Given the description of an element on the screen output the (x, y) to click on. 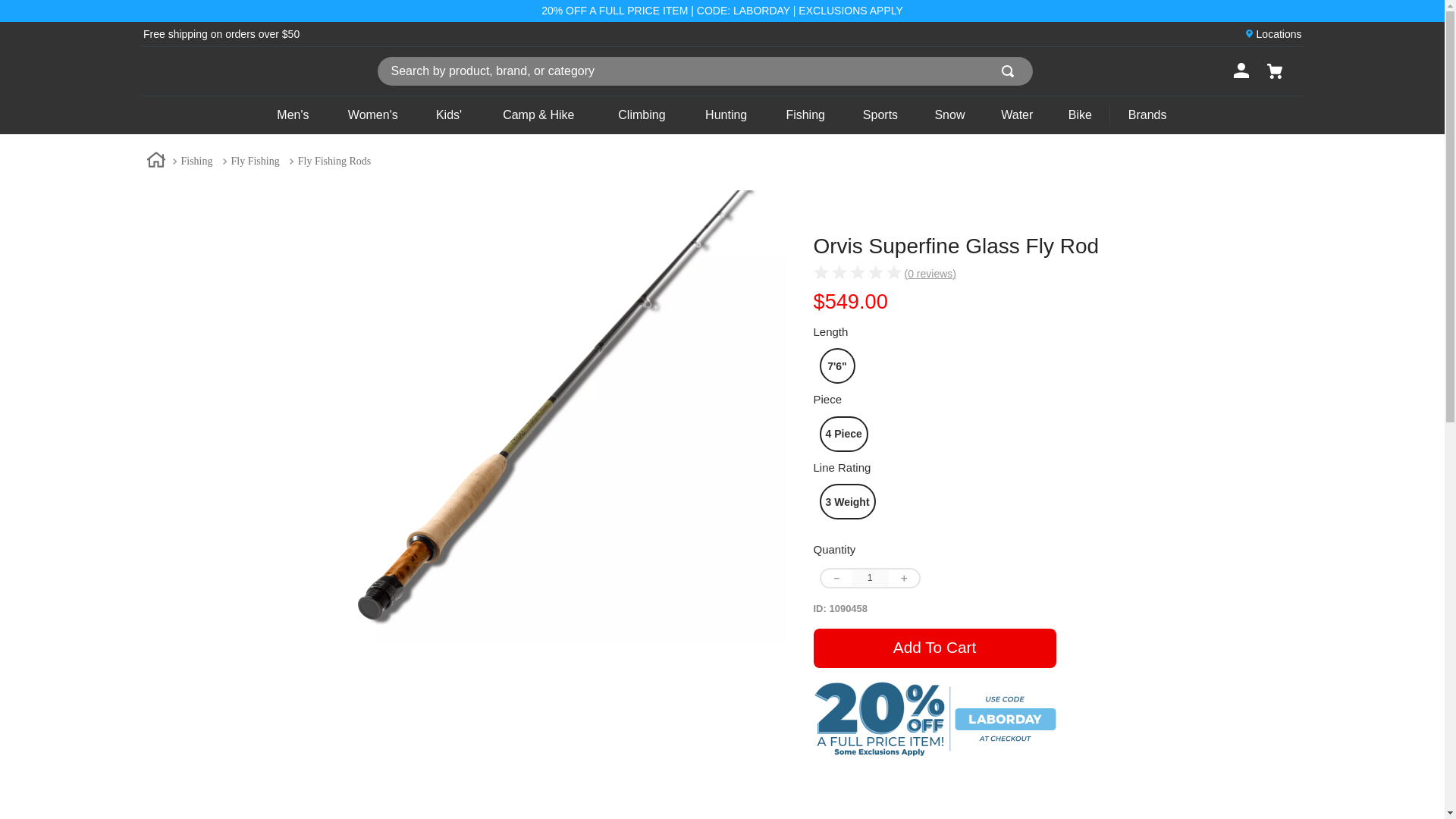
Hunting (726, 115)
Brands (1146, 115)
Men's (292, 115)
Sports (880, 115)
Fly Fishing Rods (334, 160)
Climbing (641, 115)
1 (869, 578)
Women's (372, 115)
Fly Fishing (255, 160)
Sports (880, 115)
